Given the description of an element on the screen output the (x, y) to click on. 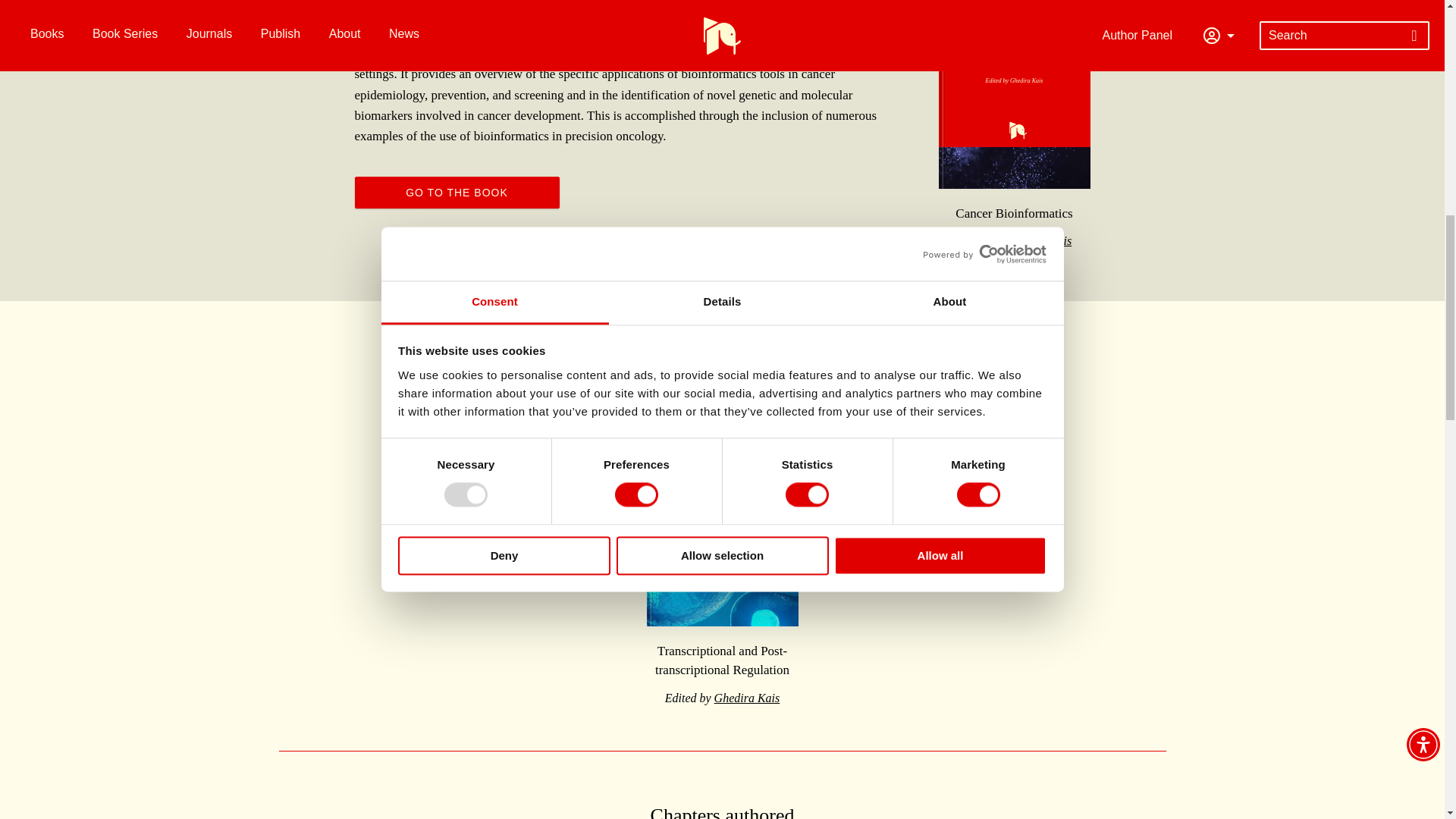
IntechOpen (721, 515)
IntechOpen (1014, 78)
